Given the description of an element on the screen output the (x, y) to click on. 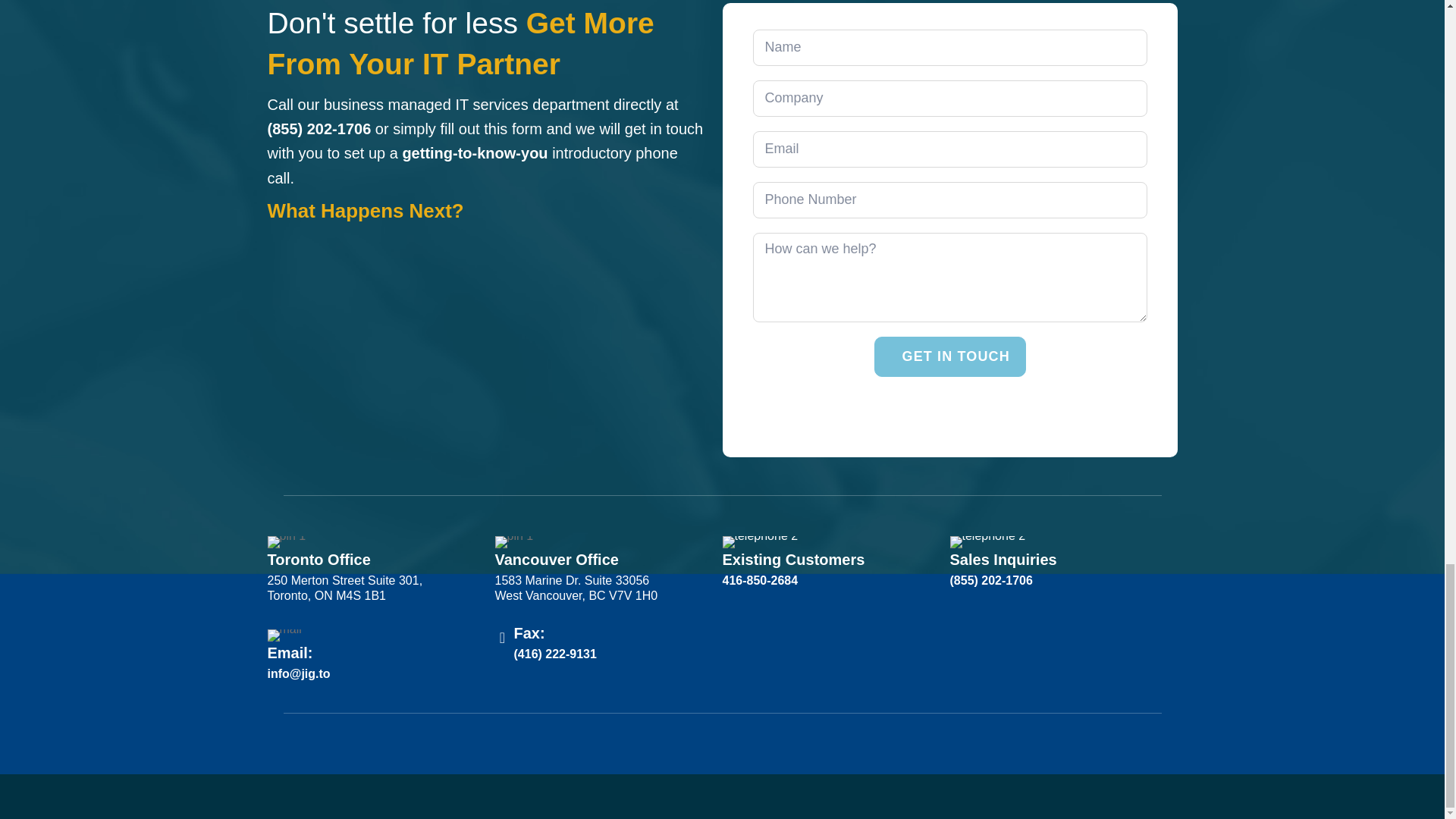
pin 1 (285, 541)
telephone 2 (759, 541)
pin 1 (513, 541)
GET IN TOUCH (949, 356)
